Given the description of an element on the screen output the (x, y) to click on. 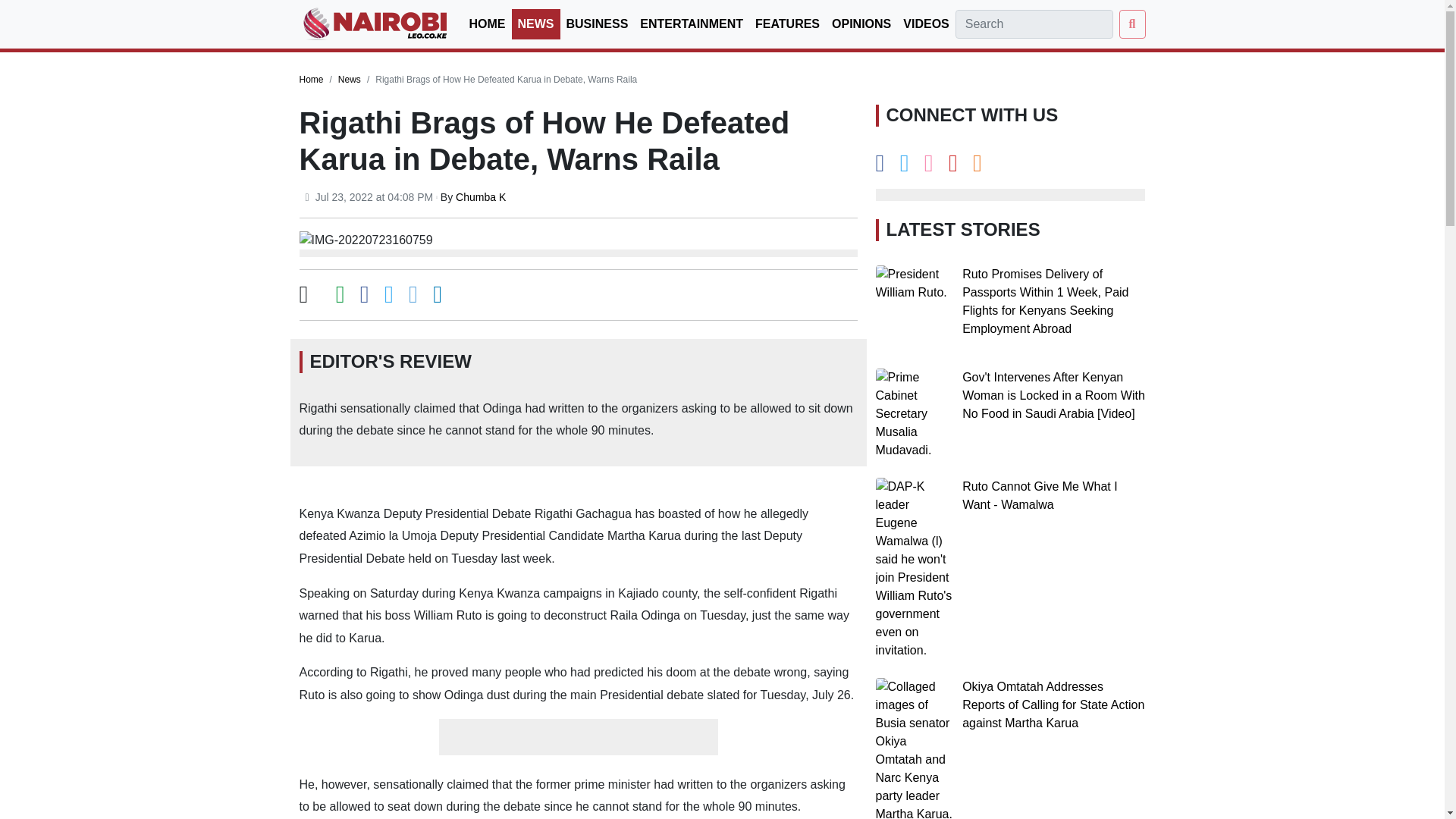
ENTERTAINMENT (691, 24)
OPINIONS (860, 24)
VIDEOS (925, 24)
BUSINESS (596, 24)
News (349, 79)
Home (310, 79)
Share via Telegram (413, 297)
Share via Linked (437, 297)
Share via Whatsapp (340, 297)
Chumba K (480, 196)
NEWS (535, 24)
FEATURES (787, 24)
Share via Facebook (364, 297)
HOME (487, 24)
Share via Twitter (388, 297)
